Given the description of an element on the screen output the (x, y) to click on. 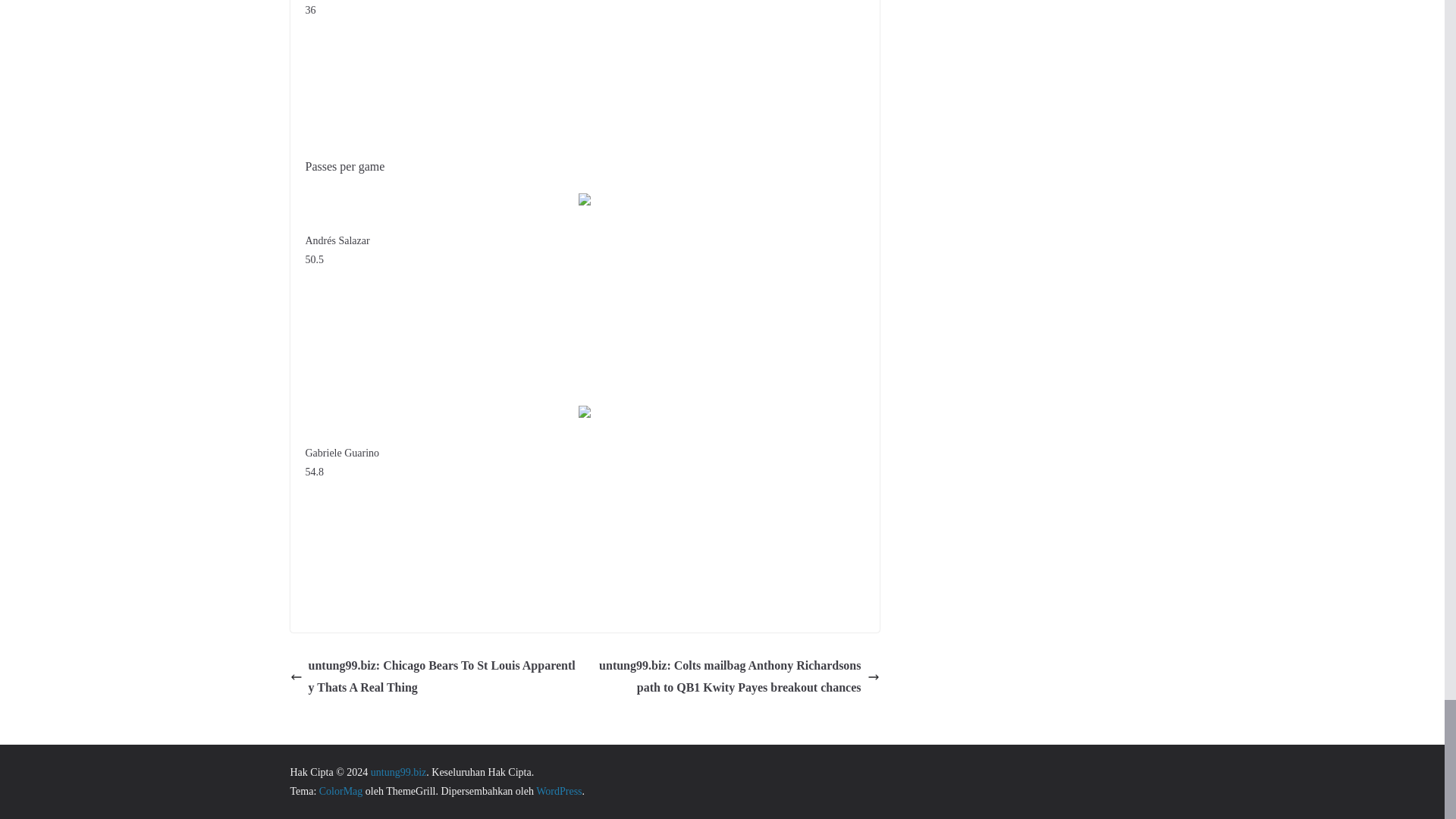
untung99.biz (398, 772)
ColorMag (340, 790)
WordPress (557, 790)
WordPress (557, 790)
ColorMag (340, 790)
untung99.biz (398, 772)
